Given the description of an element on the screen output the (x, y) to click on. 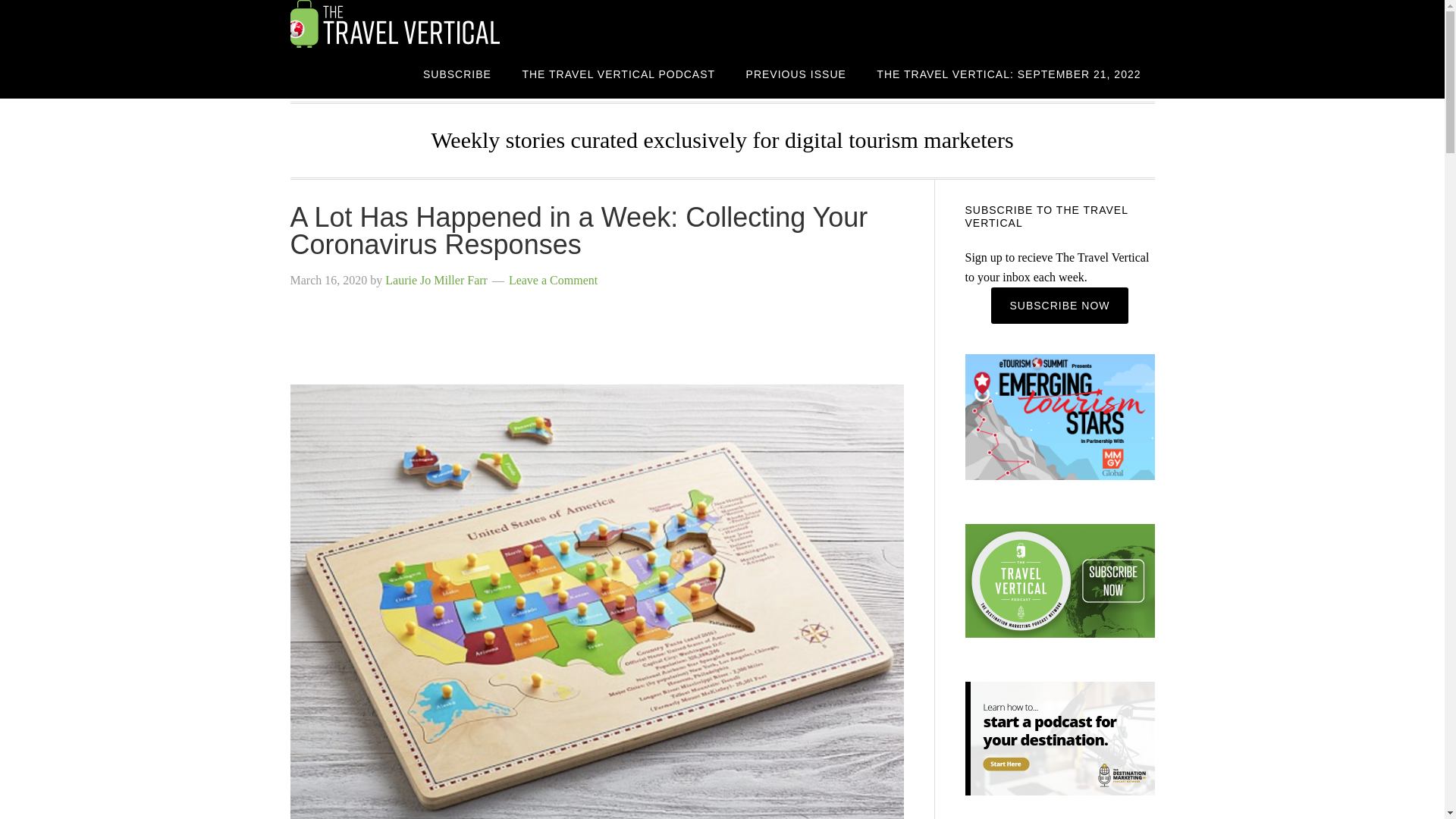
SUBSCRIBE (457, 73)
Subscribe Now (1058, 305)
THE TRAVEL VERTICAL: SEPTEMBER 21, 2022 (1008, 73)
THE TRAVEL VERTICAL (410, 24)
Laurie Jo Miller Farr (436, 279)
Leave a Comment (552, 279)
THE TRAVEL VERTICAL PODCAST (618, 73)
PREVIOUS ISSUE (796, 73)
